Given the description of an element on the screen output the (x, y) to click on. 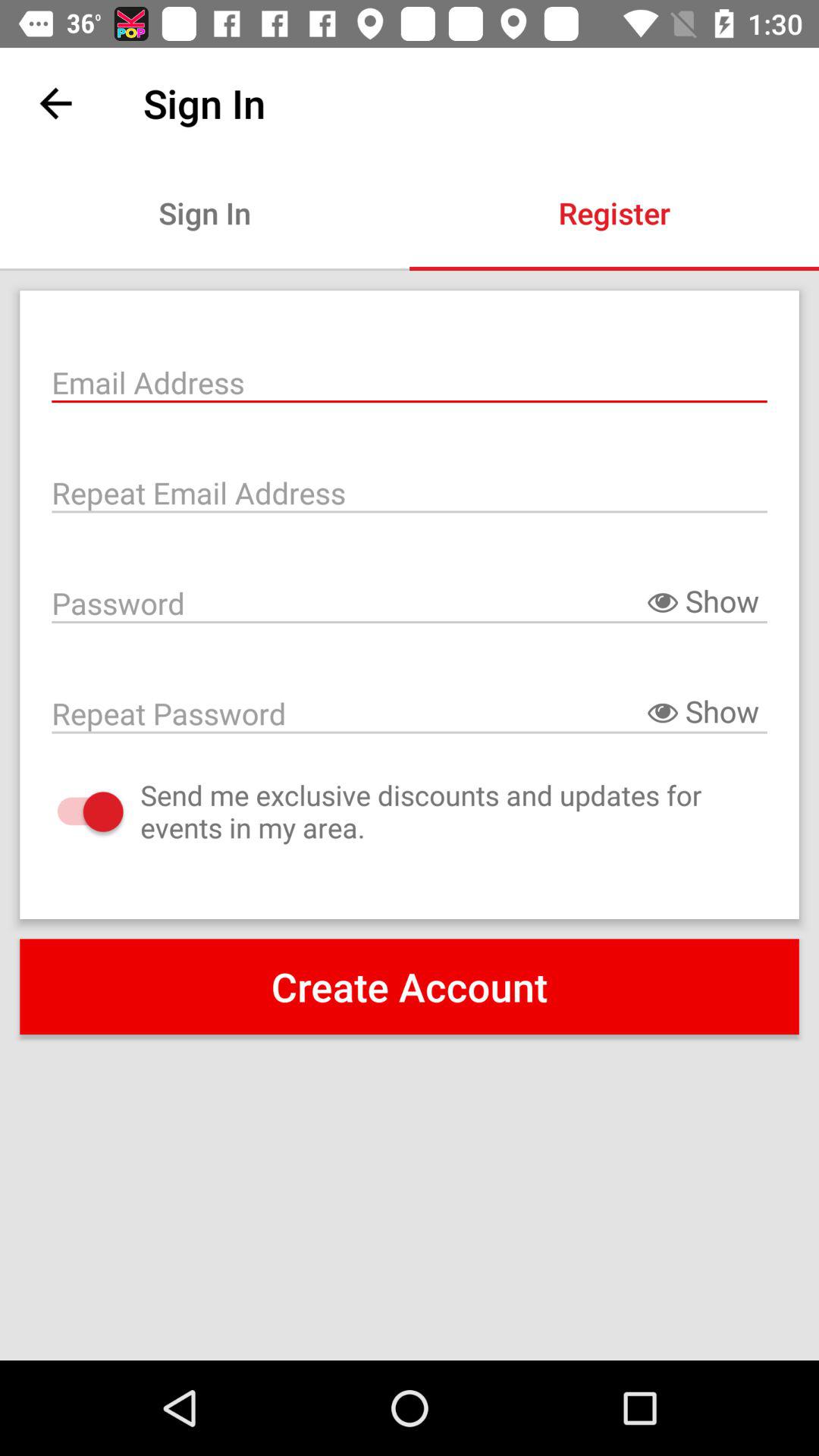
enter password (409, 712)
